Given the description of an element on the screen output the (x, y) to click on. 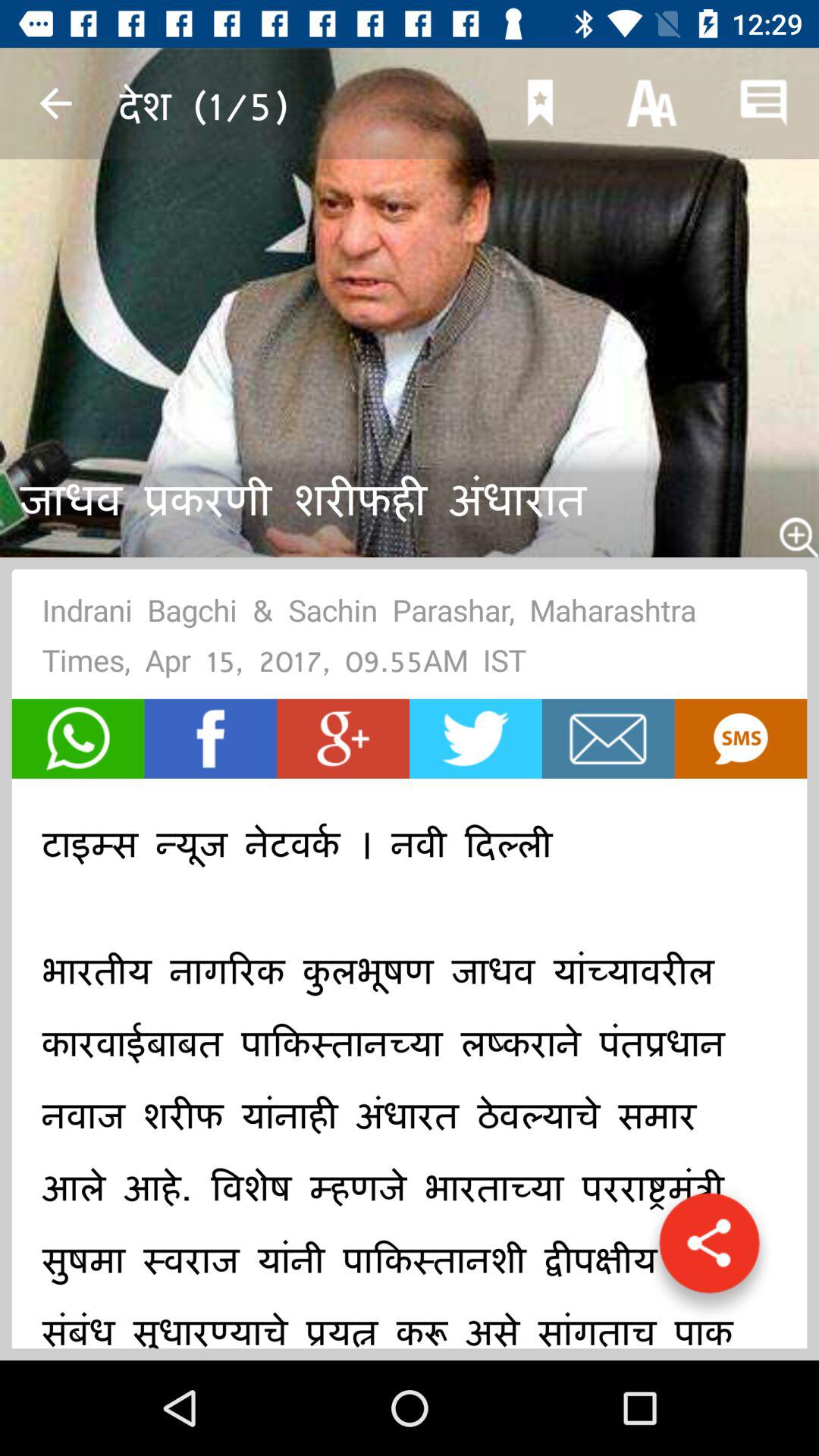
email the story (608, 738)
